Given the description of an element on the screen output the (x, y) to click on. 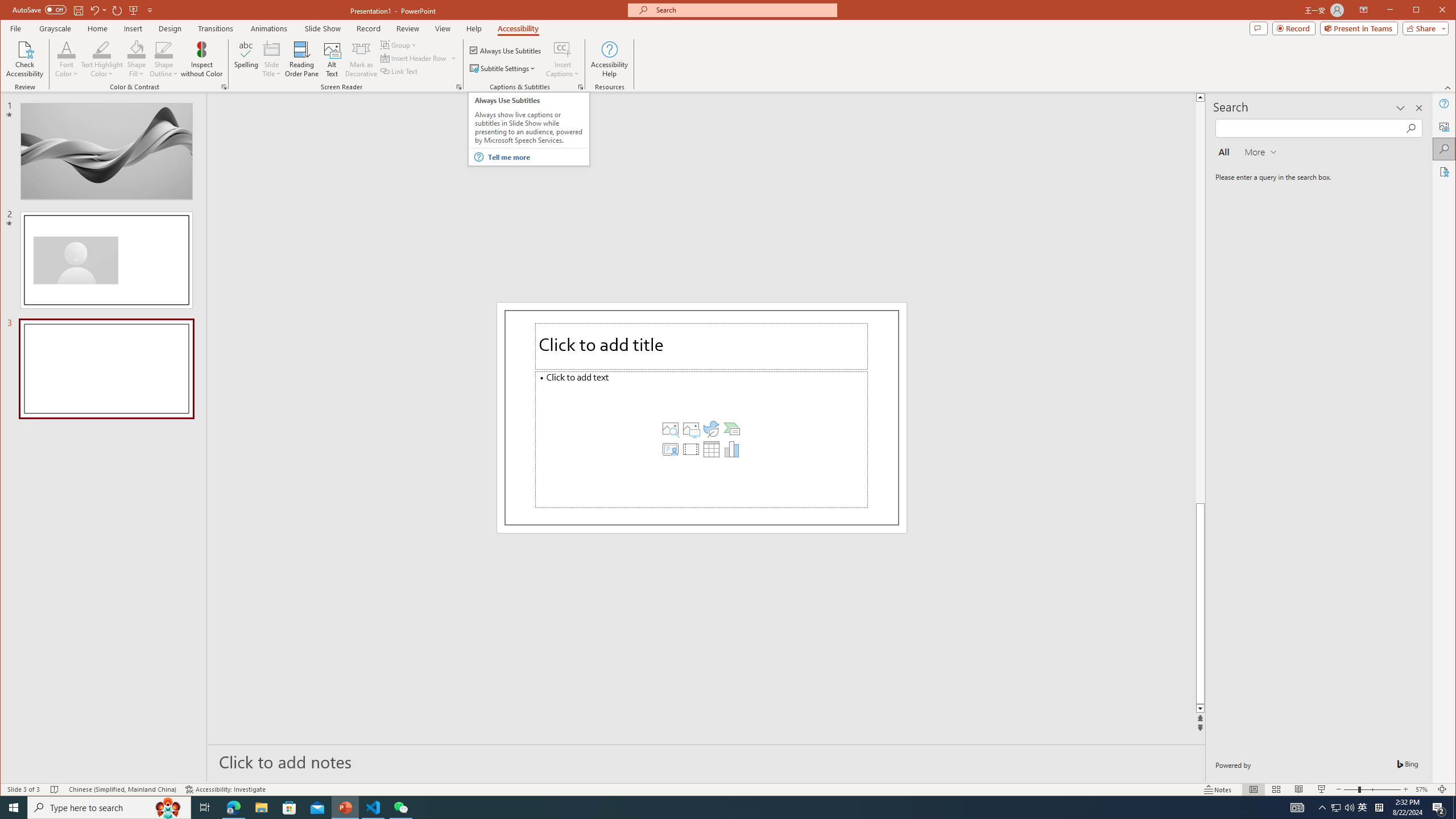
Subtitle Settings (502, 68)
Insert Table (710, 449)
